Given the description of an element on the screen output the (x, y) to click on. 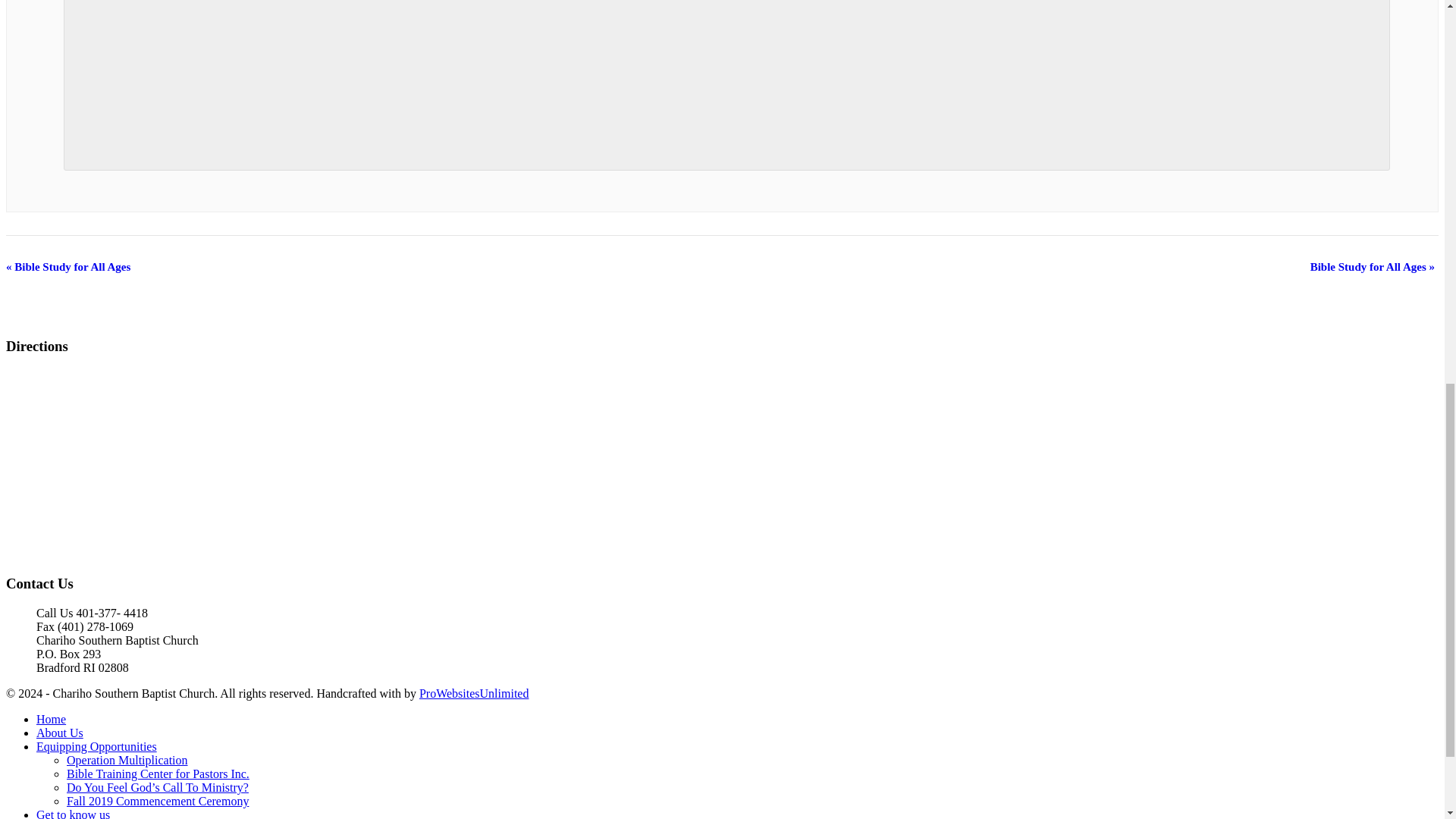
ProWebsitesUnlimited (473, 693)
Equipping Opportunities (96, 746)
About Us (59, 732)
Operation Multiplication (126, 759)
Bible Training Center for Pastors Inc. (157, 773)
Home (50, 718)
